Given the description of an element on the screen output the (x, y) to click on. 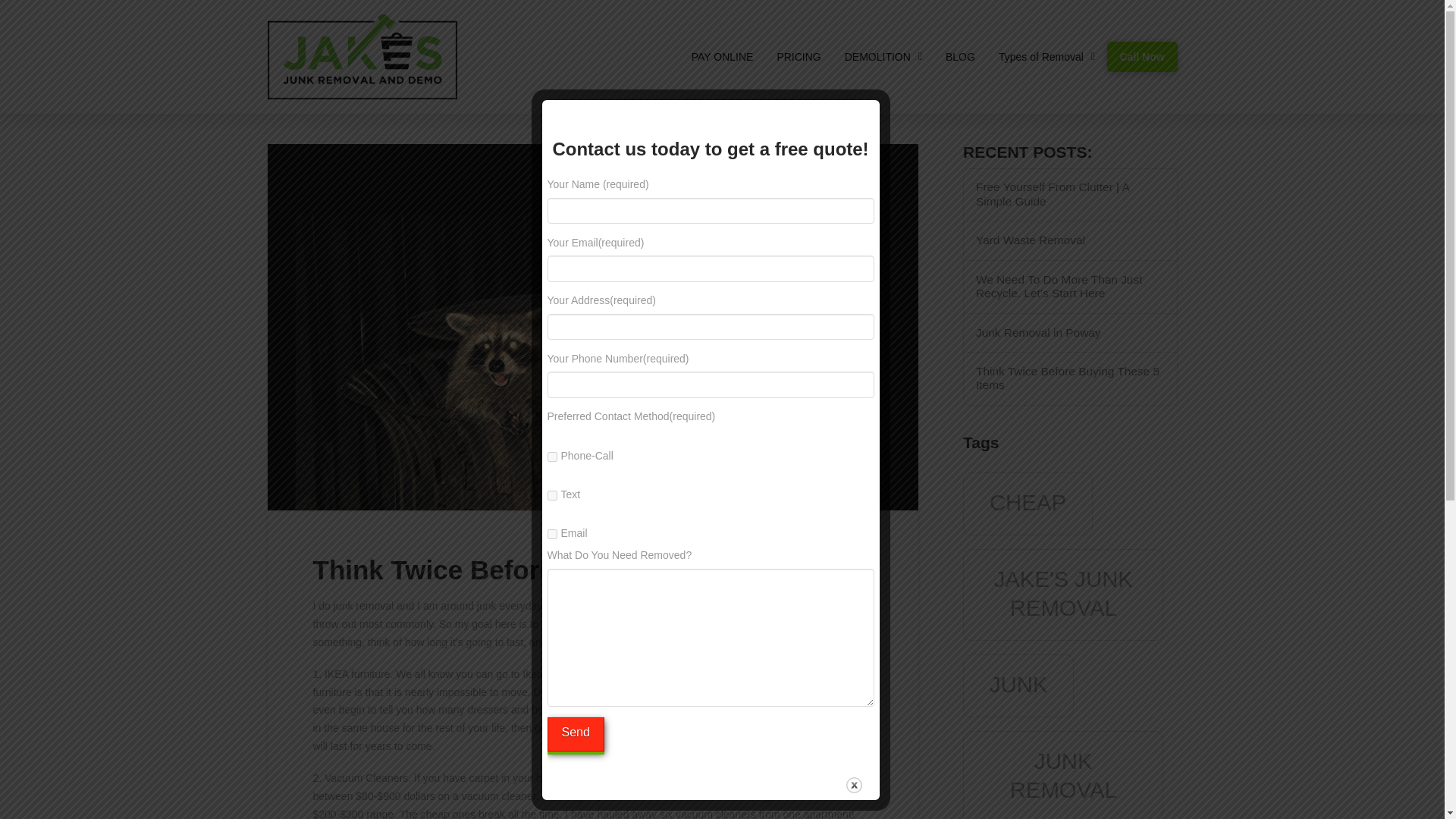
PRICING (798, 56)
Send (575, 734)
Yard Waste Removal (1069, 240)
Junk Removal in Poway (1069, 332)
Phone-Call (552, 456)
PAY ONLINE (722, 56)
Types of Removal (1046, 56)
Email (552, 533)
JUNK (1018, 685)
JUNK REMOVAL (1062, 775)
Close (853, 785)
Text (552, 495)
DEMOLITION (882, 56)
CHEAP (1027, 503)
Think Twice Before Buying These 5 Items (1069, 378)
